Given the description of an element on the screen output the (x, y) to click on. 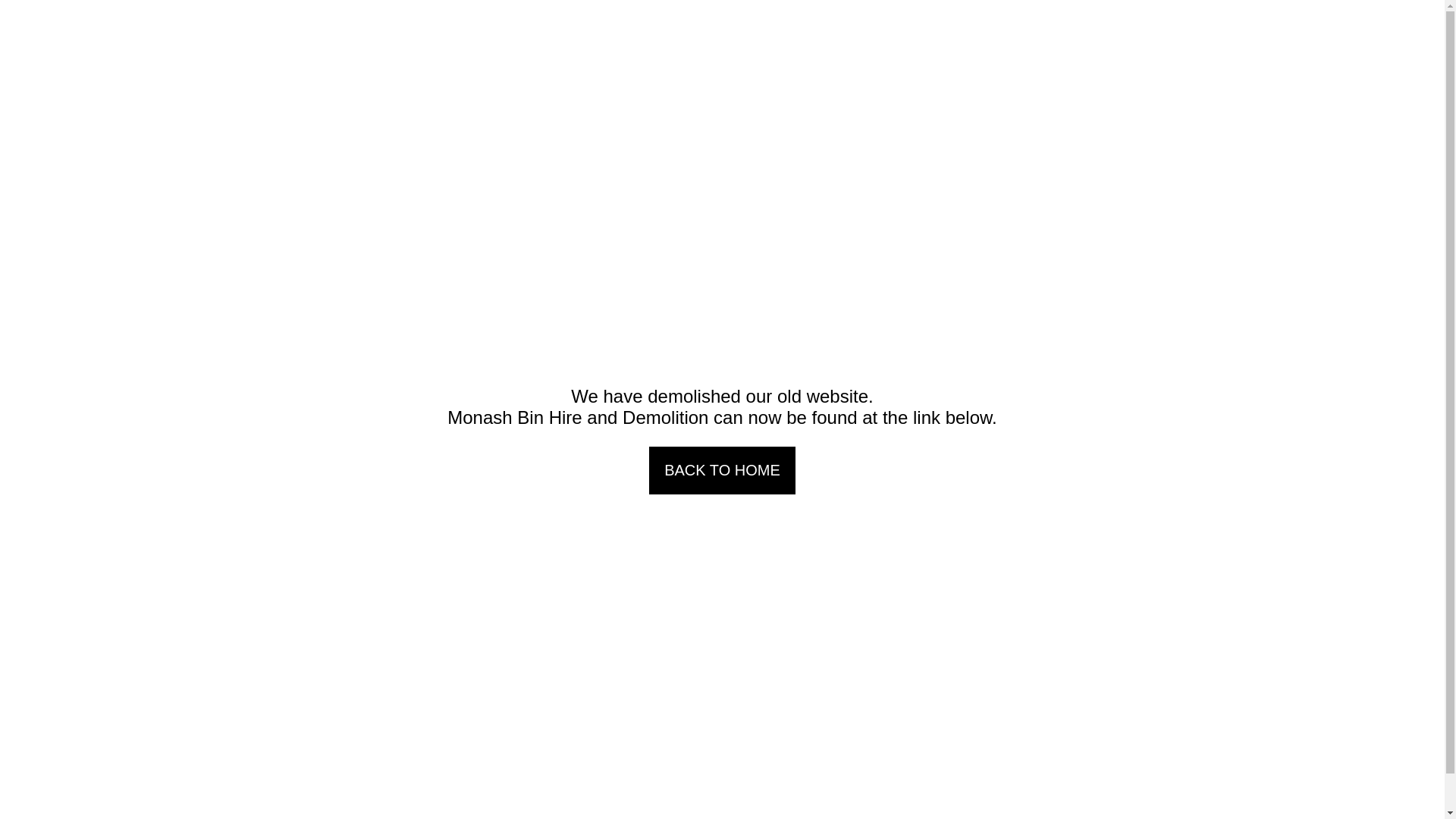
BACK TO HOME Element type: text (722, 469)
